Given the description of an element on the screen output the (x, y) to click on. 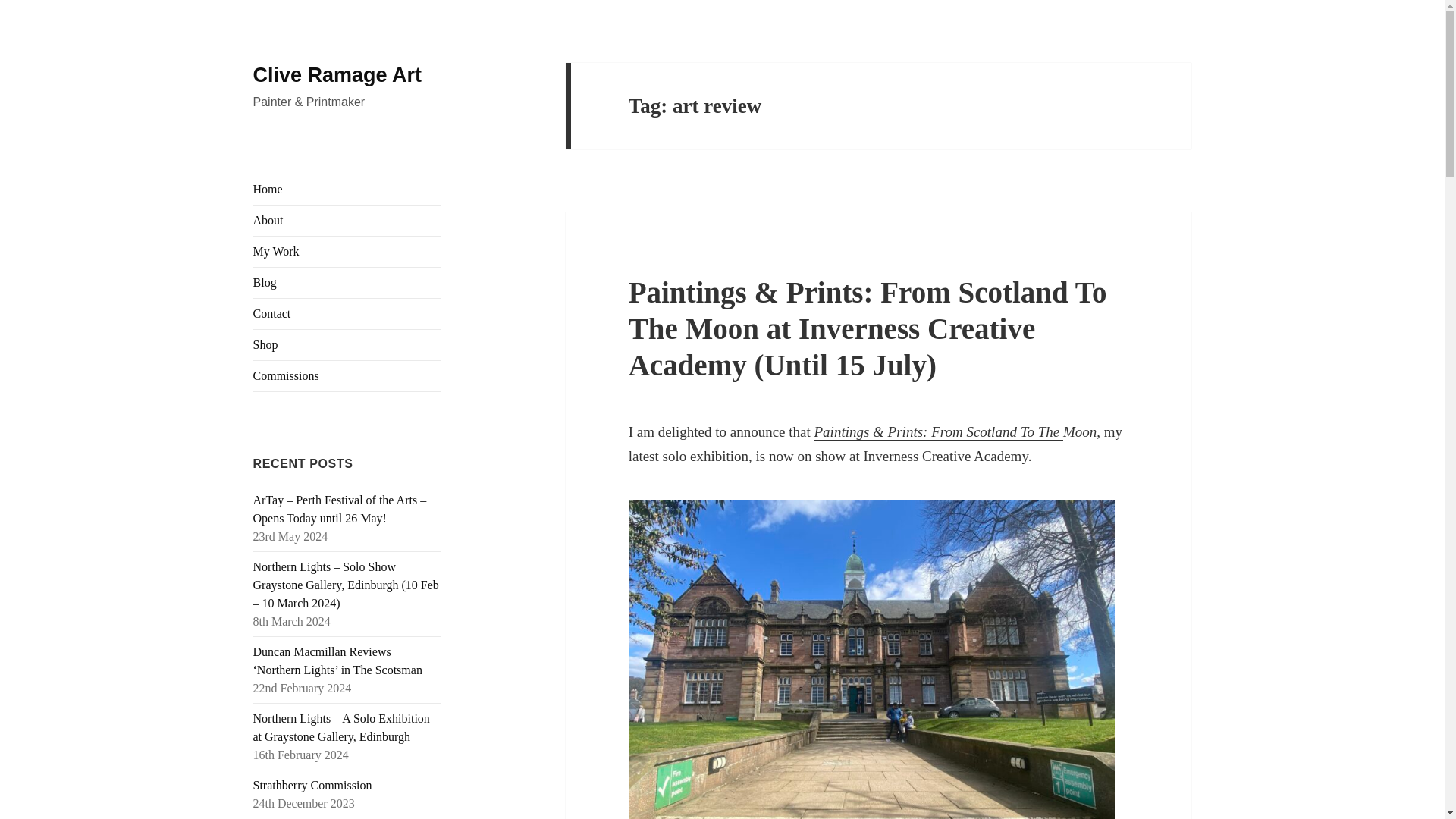
Commissions (347, 376)
Blog (347, 282)
Home (347, 189)
Clive Ramage Art (337, 74)
Shop (347, 345)
Strathberry Commission (312, 784)
Contact (347, 313)
My Work (347, 251)
About (347, 220)
